Given the description of an element on the screen output the (x, y) to click on. 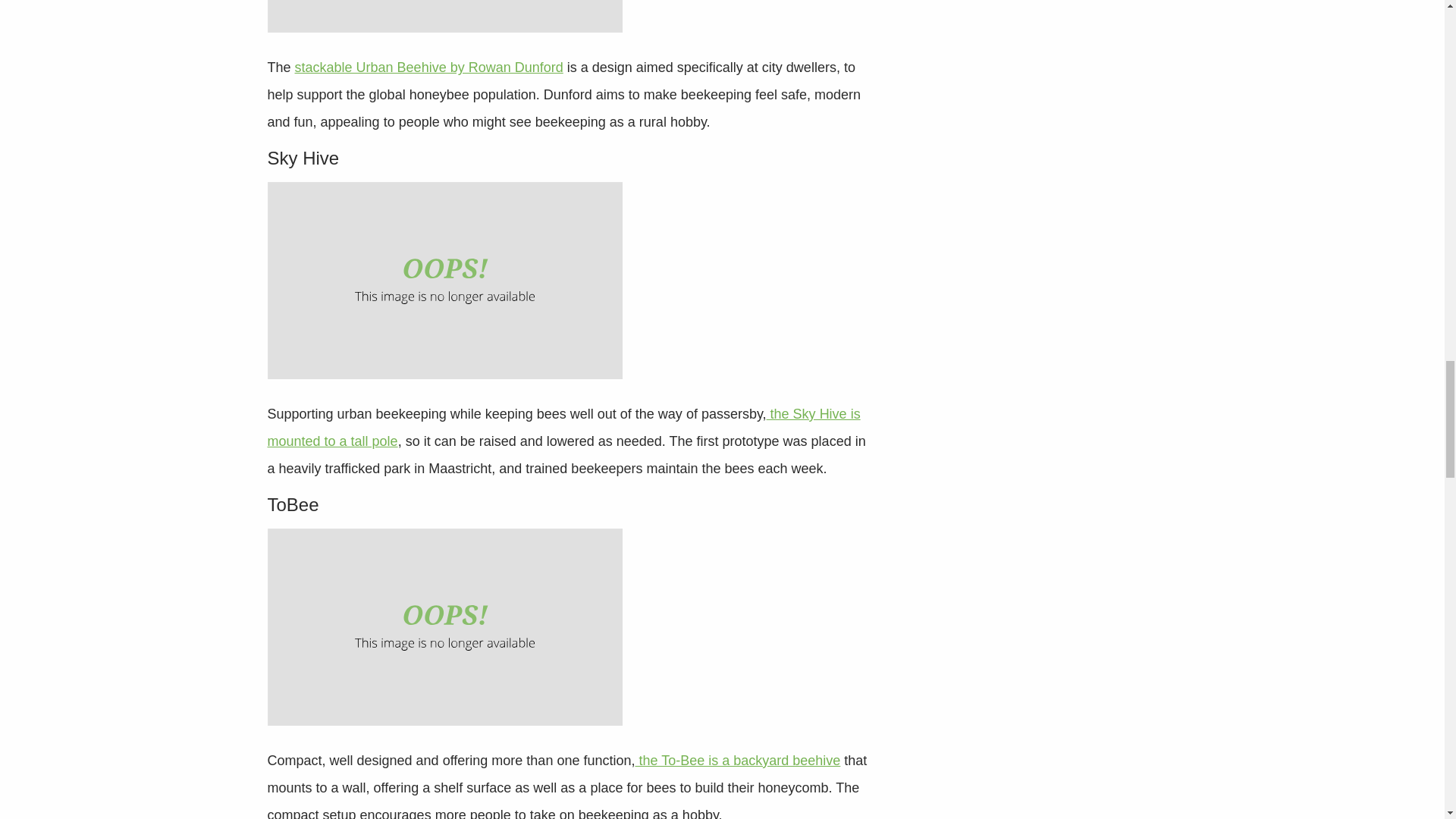
Beehive Design Dunford (443, 16)
stackable Urban Beehive by Rowan Dunford (429, 67)
the To-Bee is a backyard beehive (737, 760)
the Sky Hive is mounted to a tall pole (563, 427)
Beehive Design To Bee (443, 626)
Beehive Design Sky Hive (443, 280)
